Given the description of an element on the screen output the (x, y) to click on. 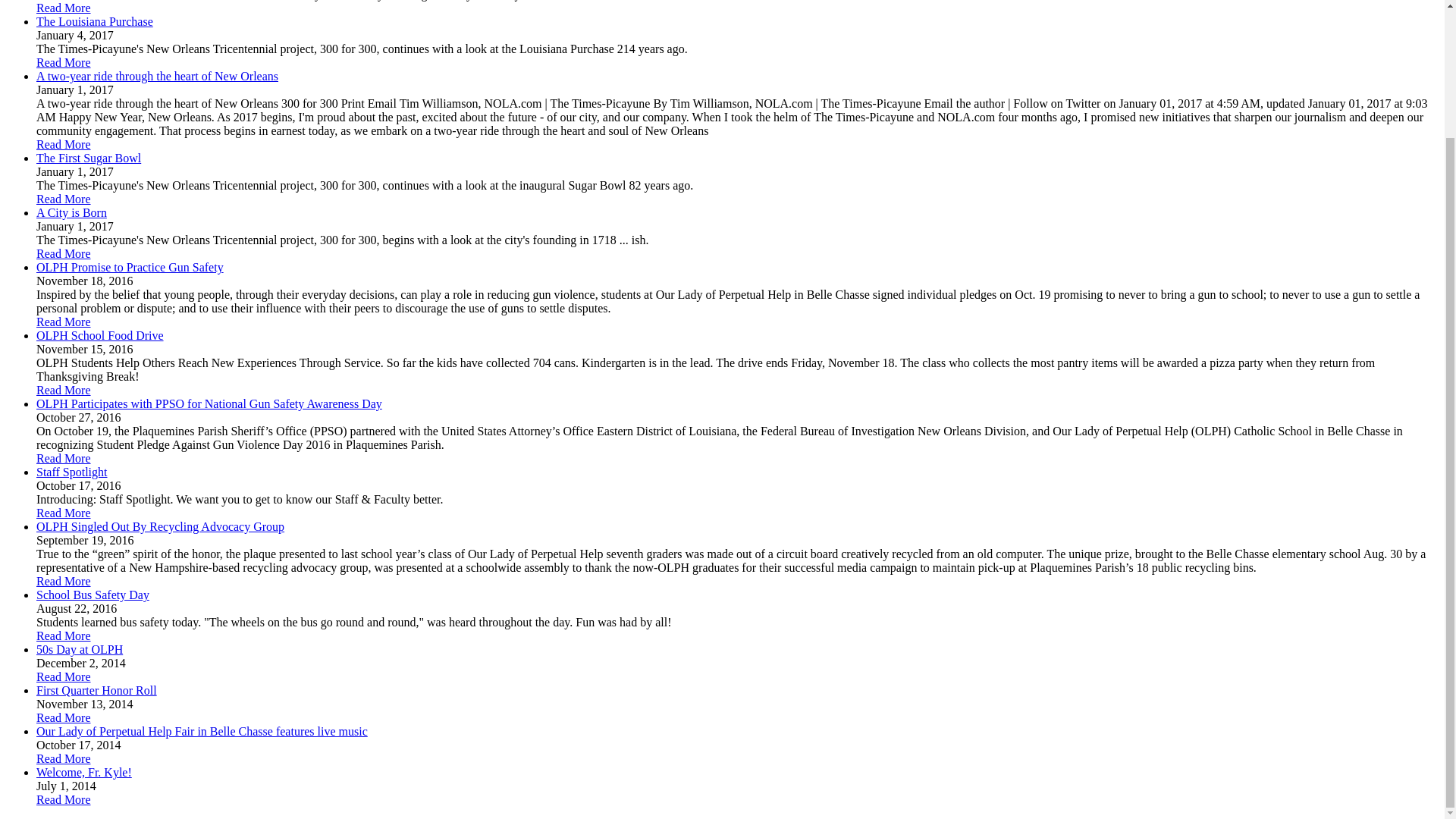
A two-year ride through the heart of New Orleans (157, 75)
First Quarter Honor Roll (96, 689)
Read More (63, 635)
Read More (63, 512)
Read More (63, 7)
Read More (63, 144)
Read More (63, 321)
50s Day at OLPH (79, 649)
OLPH Singled Out By Recycling Advocacy Group (159, 526)
Read More (63, 676)
